Given the description of an element on the screen output the (x, y) to click on. 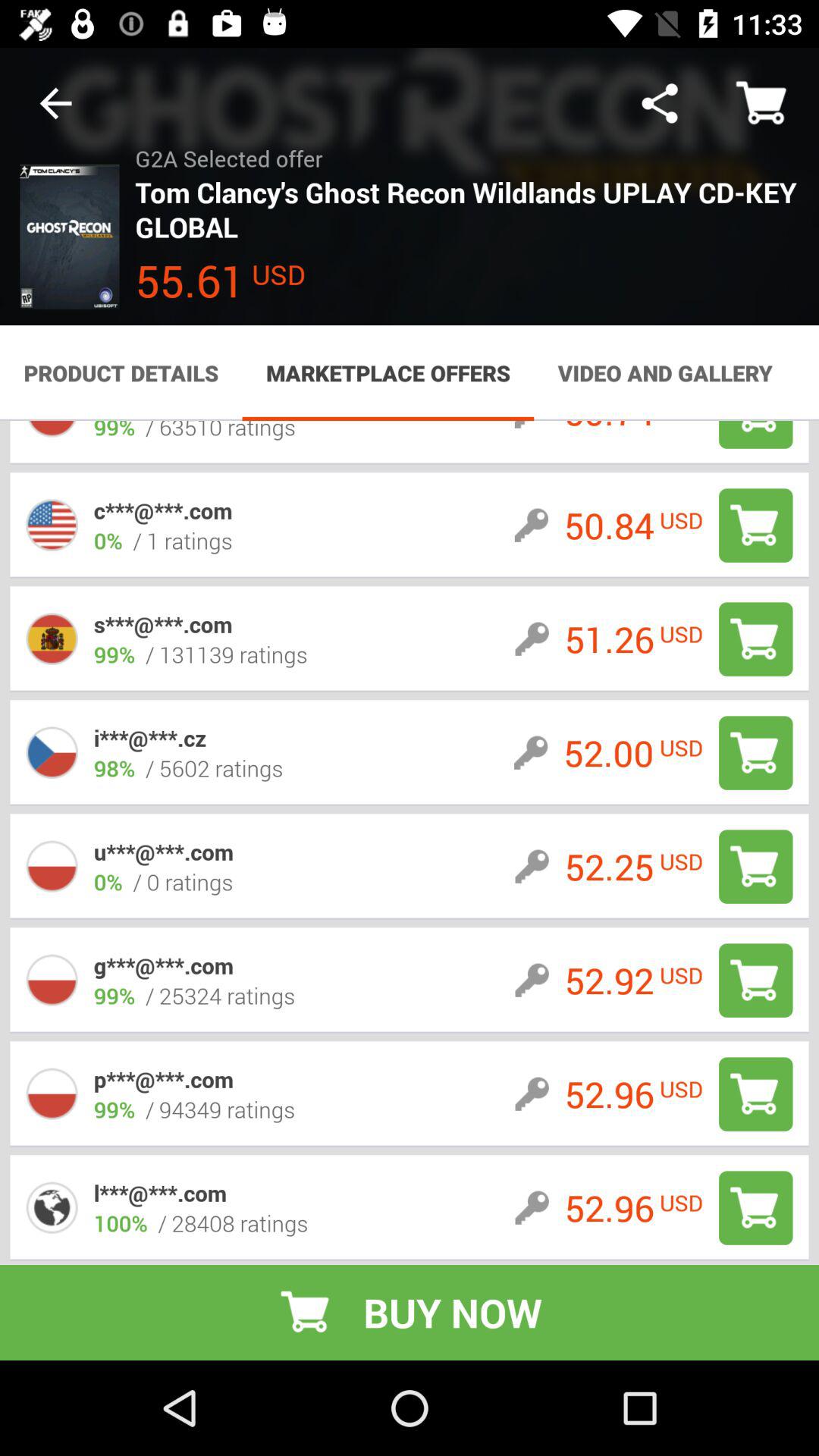
go to shopping (755, 1207)
